Given the description of an element on the screen output the (x, y) to click on. 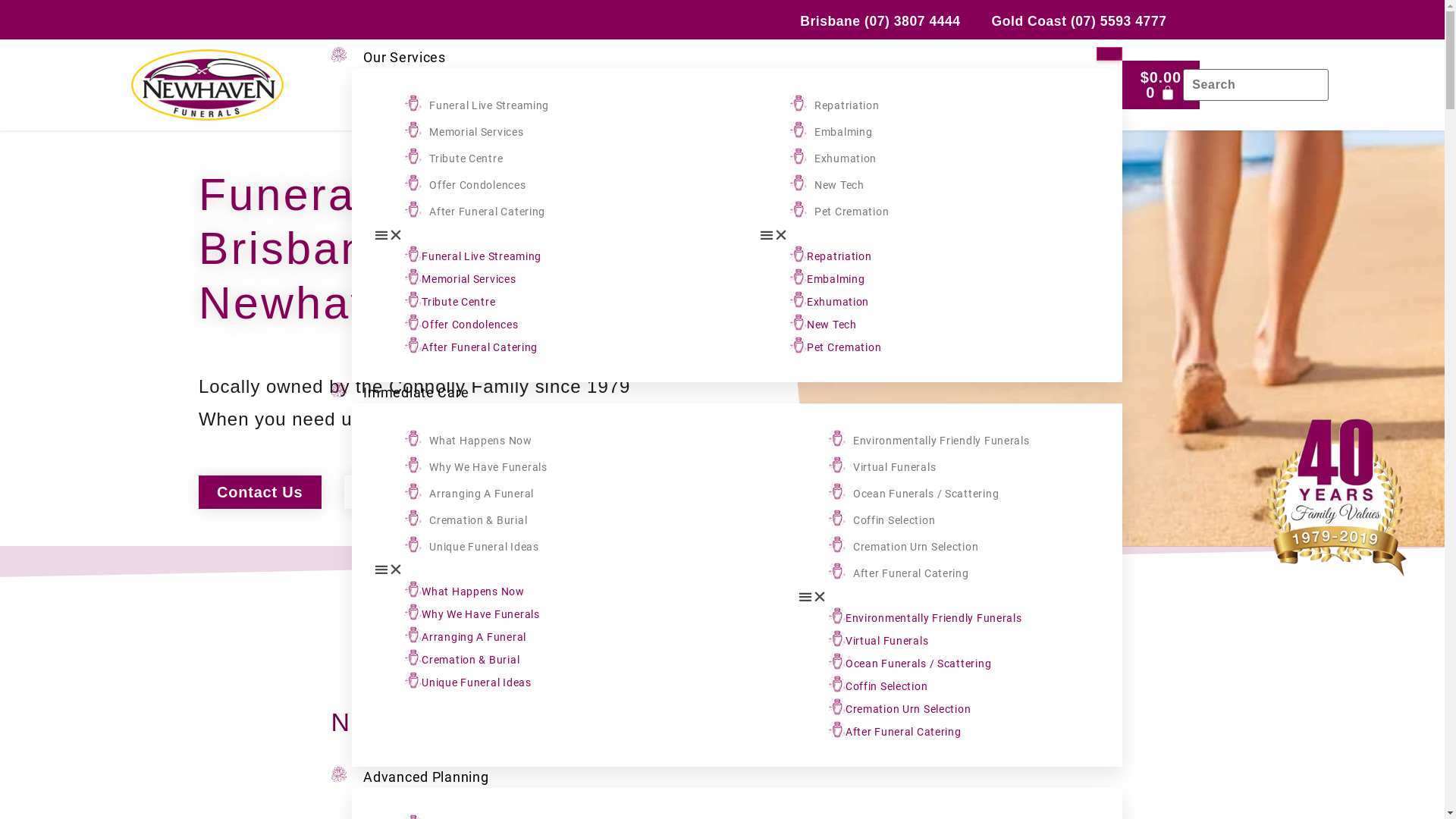
What Happens Now Element type: text (480, 440)
Cremation & Burial Element type: text (470, 660)
Gold Coast (07) 5593 4777 Element type: text (1069, 18)
Memorial Services Element type: text (475, 132)
After Funeral Catering Element type: text (903, 732)
Environmentally Friendly Funerals Element type: text (941, 440)
Exhumation Element type: text (837, 302)
Newhaven Funerals: Funeral Home Element type: hover (206, 84)
Tribute Centre Element type: text (458, 302)
Repatriation Element type: text (846, 105)
Cremation Urn Selection Element type: text (908, 709)
Tribute Centre Element type: text (465, 158)
Unique Funeral Ideas Element type: text (475, 682)
40 years Family Sticker Element type: hover (1335, 497)
Pet Cremation Element type: text (843, 347)
Embalming Element type: text (842, 132)
What Happens Now Element type: text (472, 591)
Immediate Care Element type: text (415, 392)
Offer Condolences Element type: text (477, 185)
Embalming Element type: text (835, 279)
Coffin Selection Element type: text (886, 686)
Pet Cremation Element type: text (851, 211)
Offer Condolences Element type: text (469, 324)
Virtual Funerals Element type: text (886, 641)
Brisbane (07) 3807 4444 Element type: text (870, 18)
Memorial Services Element type: text (468, 279)
Ocean Funerals / Scattering Element type: text (925, 494)
Virtual Funerals Element type: text (894, 467)
New Tech Element type: text (839, 185)
Funeral Live Streaming Element type: text (481, 256)
Why We Have Funerals Element type: text (480, 614)
Ocean Funerals / Scattering Element type: text (918, 663)
Cremation & Burial Element type: text (477, 520)
Arranging A Funeral Element type: text (481, 494)
Cremation Urn Selection Element type: text (915, 547)
Environmentally Friendly Funerals Element type: text (933, 618)
$0.00 0 Element type: text (1160, 84)
Why We Have Funerals Element type: text (487, 467)
Our Services Element type: text (404, 57)
Advanced Planning Element type: text (425, 776)
Tribute Centre Element type: text (418, 491)
Coffin Selection Element type: text (894, 520)
Funeral Live Streaming Element type: text (488, 105)
Contact Us Element type: text (259, 491)
After Funeral Catering Element type: text (910, 573)
Repatriation Element type: text (839, 256)
Unique Funeral Ideas Element type: text (483, 547)
After Funeral Catering Element type: text (486, 211)
Arranging A Funeral Element type: text (473, 637)
New Tech Element type: text (831, 324)
Exhumation Element type: text (845, 158)
After Funeral Catering Element type: text (479, 347)
